Given the description of an element on the screen output the (x, y) to click on. 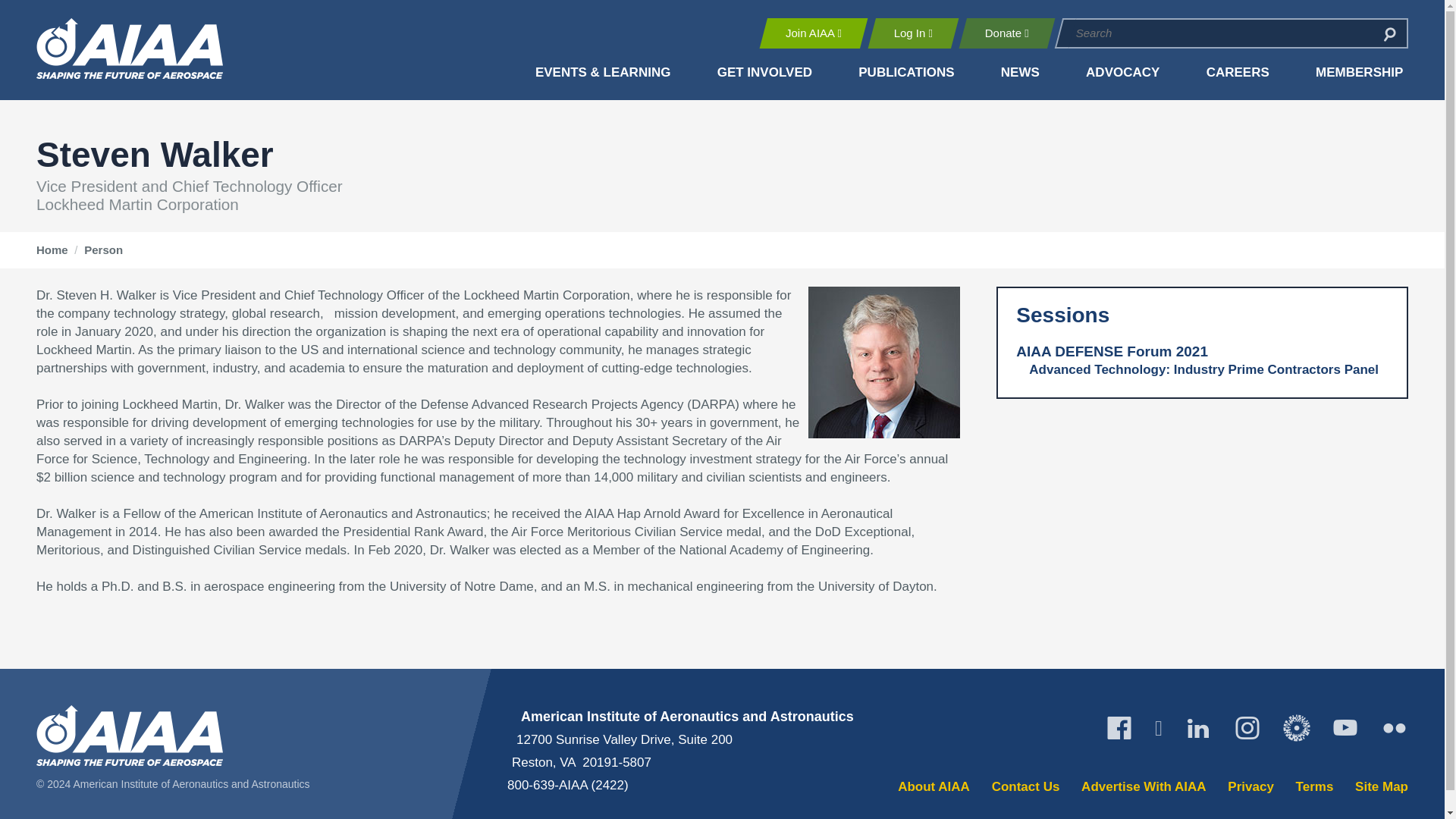
LinkedIn (1198, 728)
Flickr (1393, 728)
Donate (1006, 33)
YouTube (1345, 728)
Instagram (1246, 728)
Join AIAA (813, 33)
GET INVOLVED (764, 72)
Facebook (1118, 728)
Engage (1296, 728)
Log In (913, 33)
Steven-Walker (883, 362)
